Given the description of an element on the screen output the (x, y) to click on. 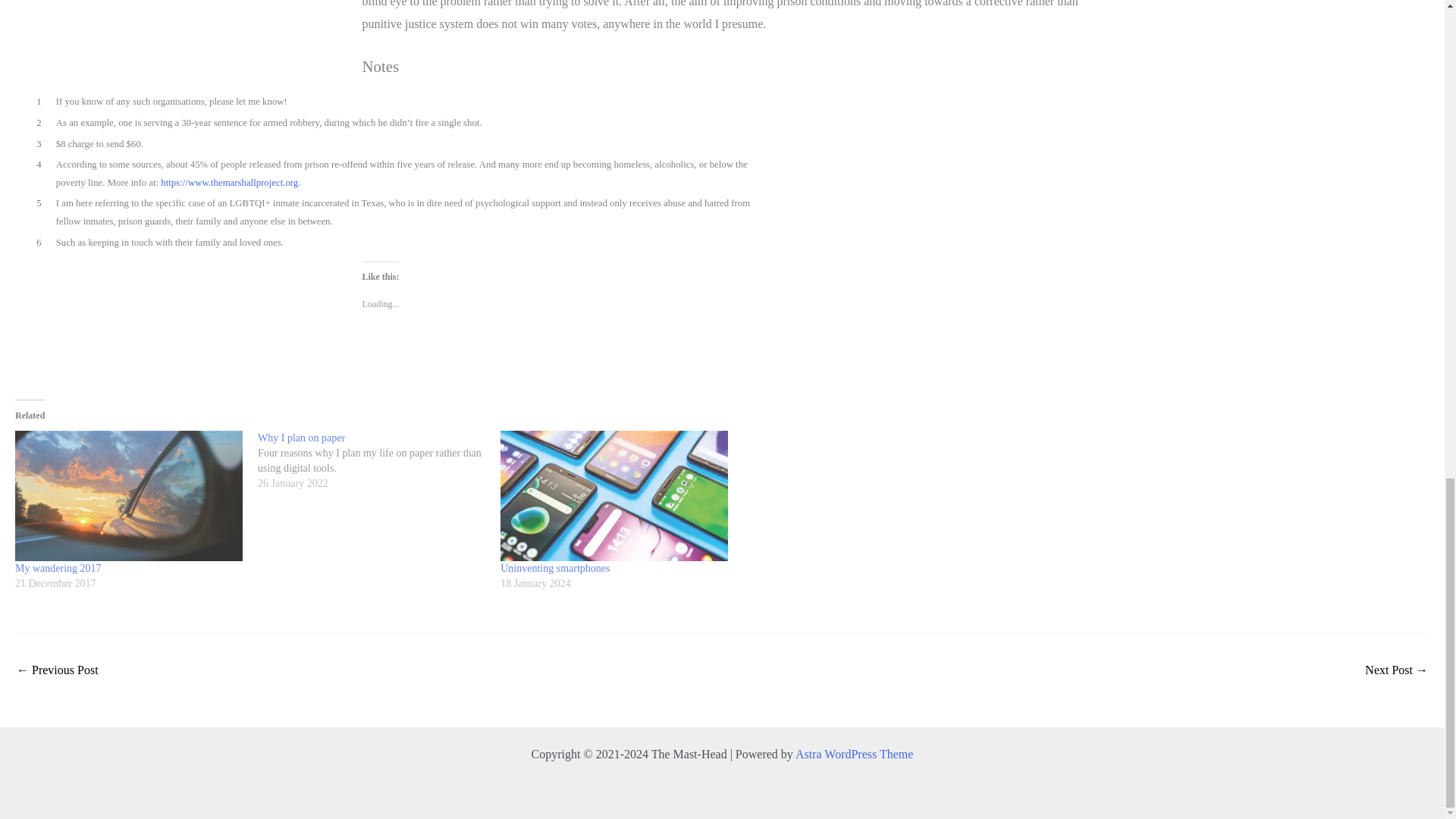
Astra WordPress Theme (853, 753)
Like or Reblog (722, 354)
Why I plan on paper (301, 437)
Uninventing smartphones (555, 568)
Why I plan on paper (301, 437)
Uninventing smartphones (614, 495)
My wandering 2017 (57, 568)
My wandering 2017 (57, 568)
My wandering 2017 (128, 495)
Why I plan on paper (378, 460)
